Given the description of an element on the screen output the (x, y) to click on. 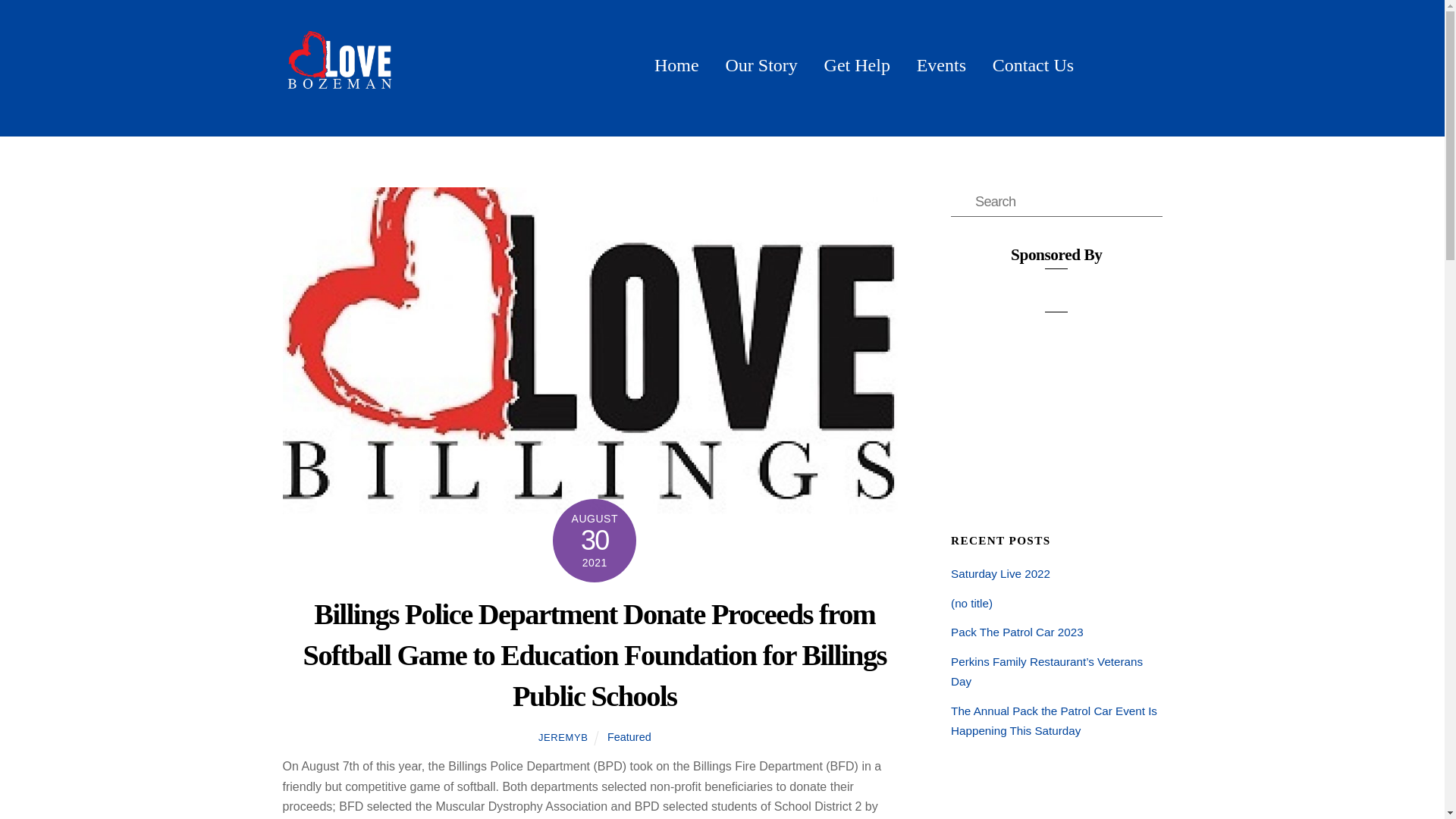
Contact Us (1032, 65)
Home (721, 52)
Love Bozeman (676, 65)
Pack The Patrol Car 2023 (339, 105)
LOVE-Billings-Logo (1016, 631)
Events (1055, 201)
Our Story (940, 65)
